Given the description of an element on the screen output the (x, y) to click on. 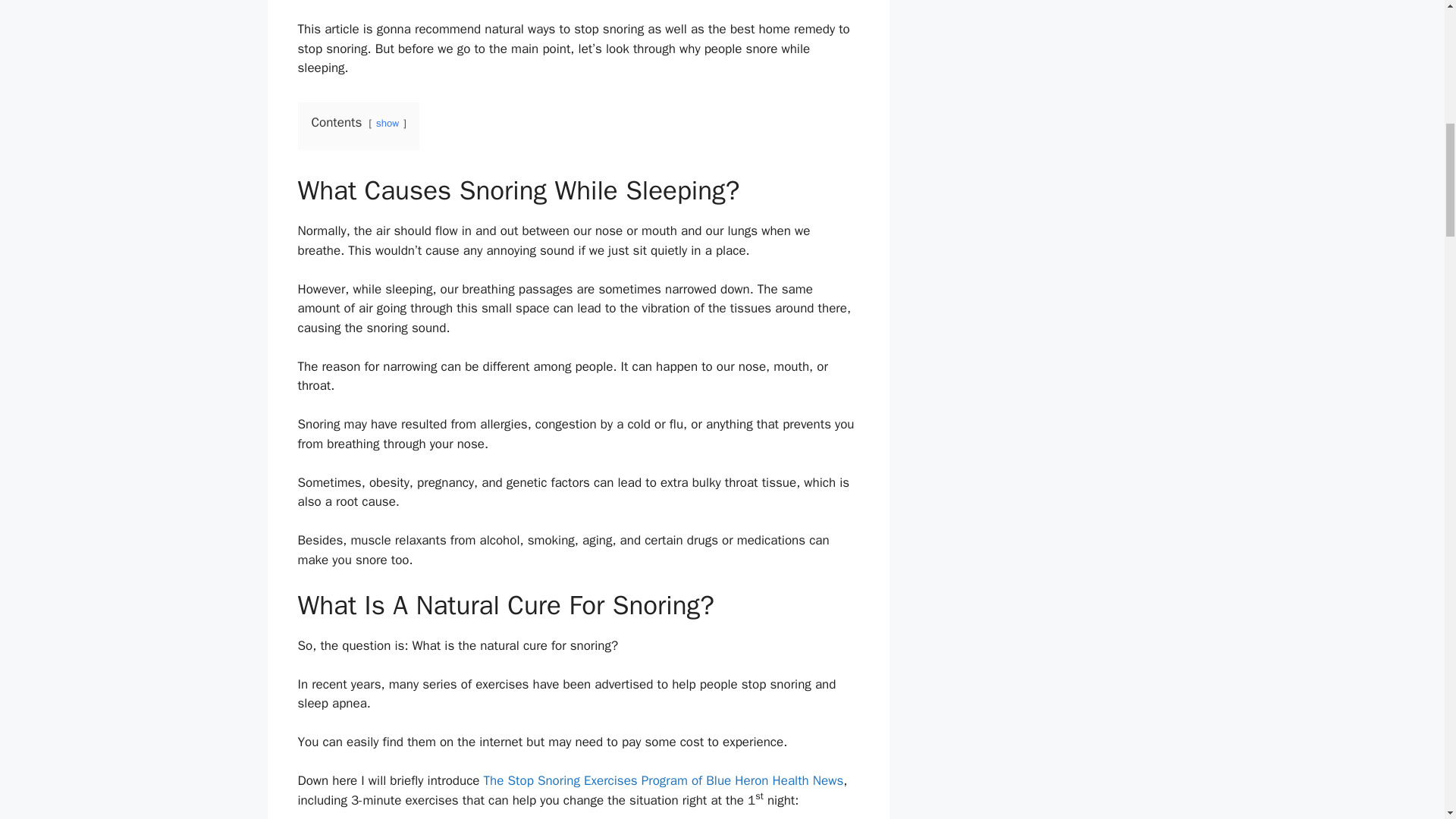
show (386, 123)
The Stop Snoring Exercises Program of Blue Heron Health News (663, 780)
